Given the description of an element on the screen output the (x, y) to click on. 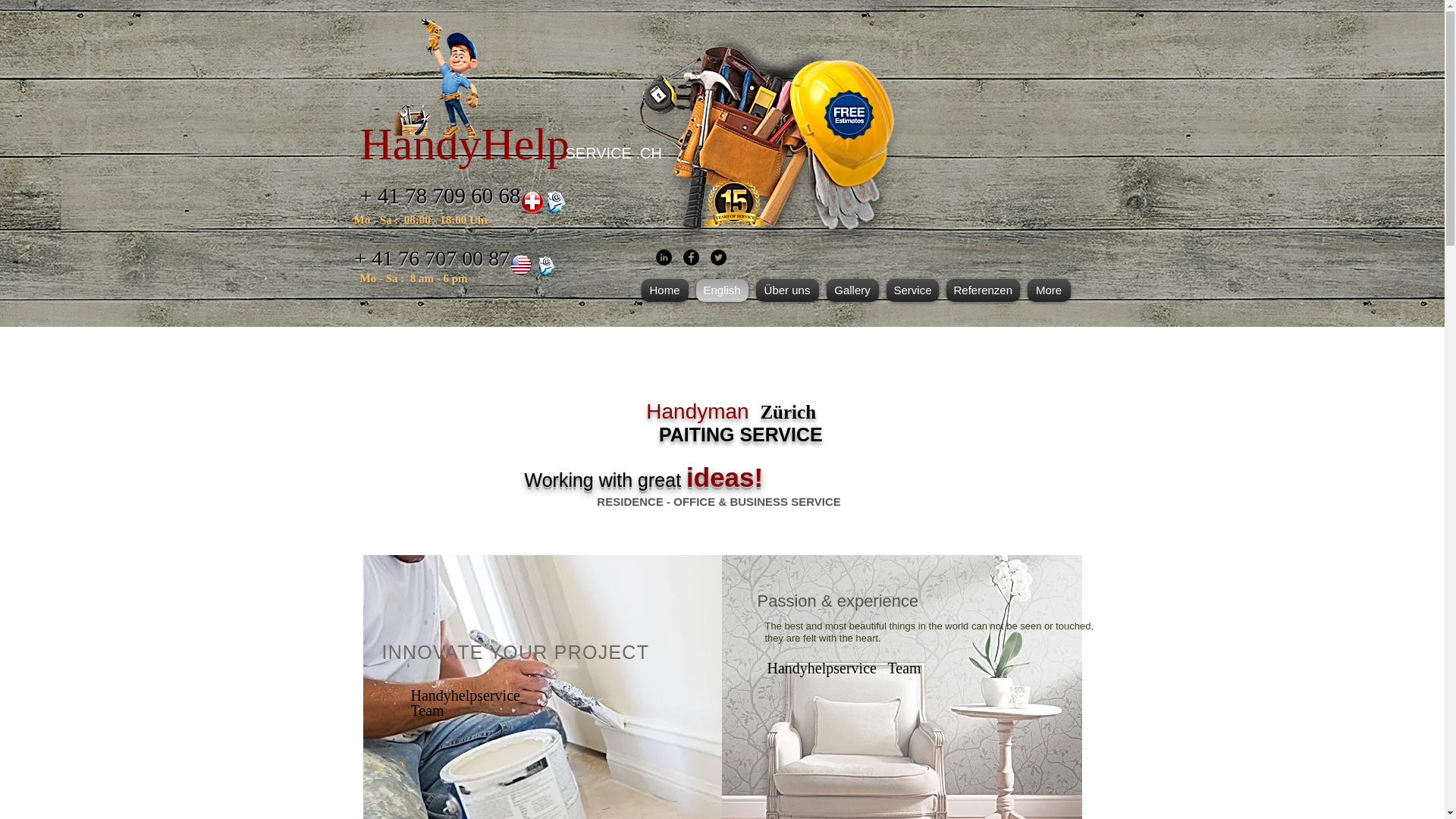
contact handyhelpservice (520, 264)
Home (667, 290)
Gallery (852, 290)
HandyHelp (464, 143)
Service (912, 290)
English (721, 290)
Referenzen (982, 290)
